Given the description of an element on the screen output the (x, y) to click on. 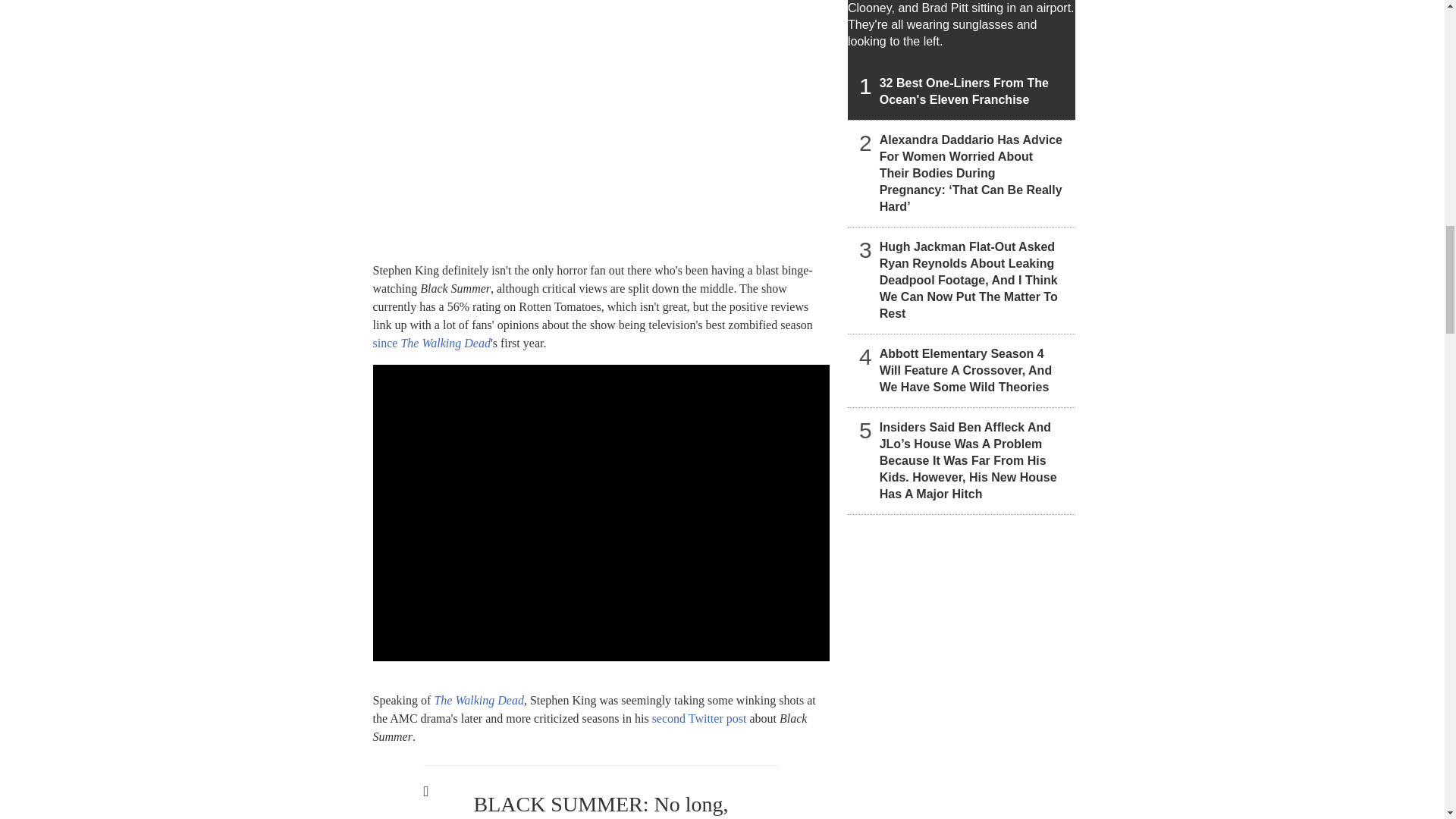
32 Best One-Liners From The Ocean's Eleven Franchise (961, 59)
